Given the description of an element on the screen output the (x, y) to click on. 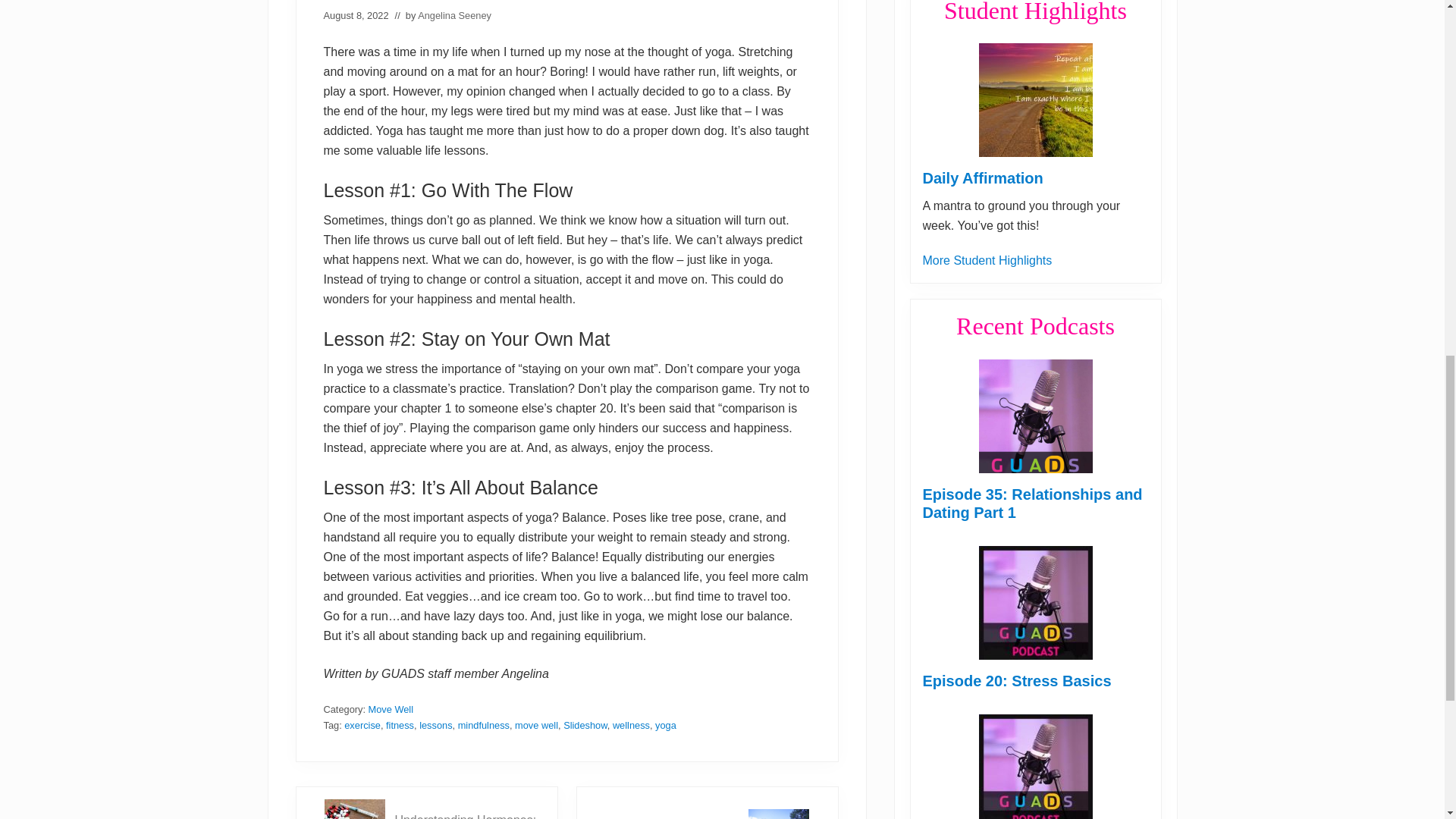
mindfulness (483, 725)
Slideshow (585, 725)
Move Well (390, 708)
yoga (666, 725)
Angelina Seeney (454, 15)
Student Highlights (986, 259)
exercise (361, 725)
fitness (399, 725)
lessons (435, 725)
wellness (630, 725)
